Given the description of an element on the screen output the (x, y) to click on. 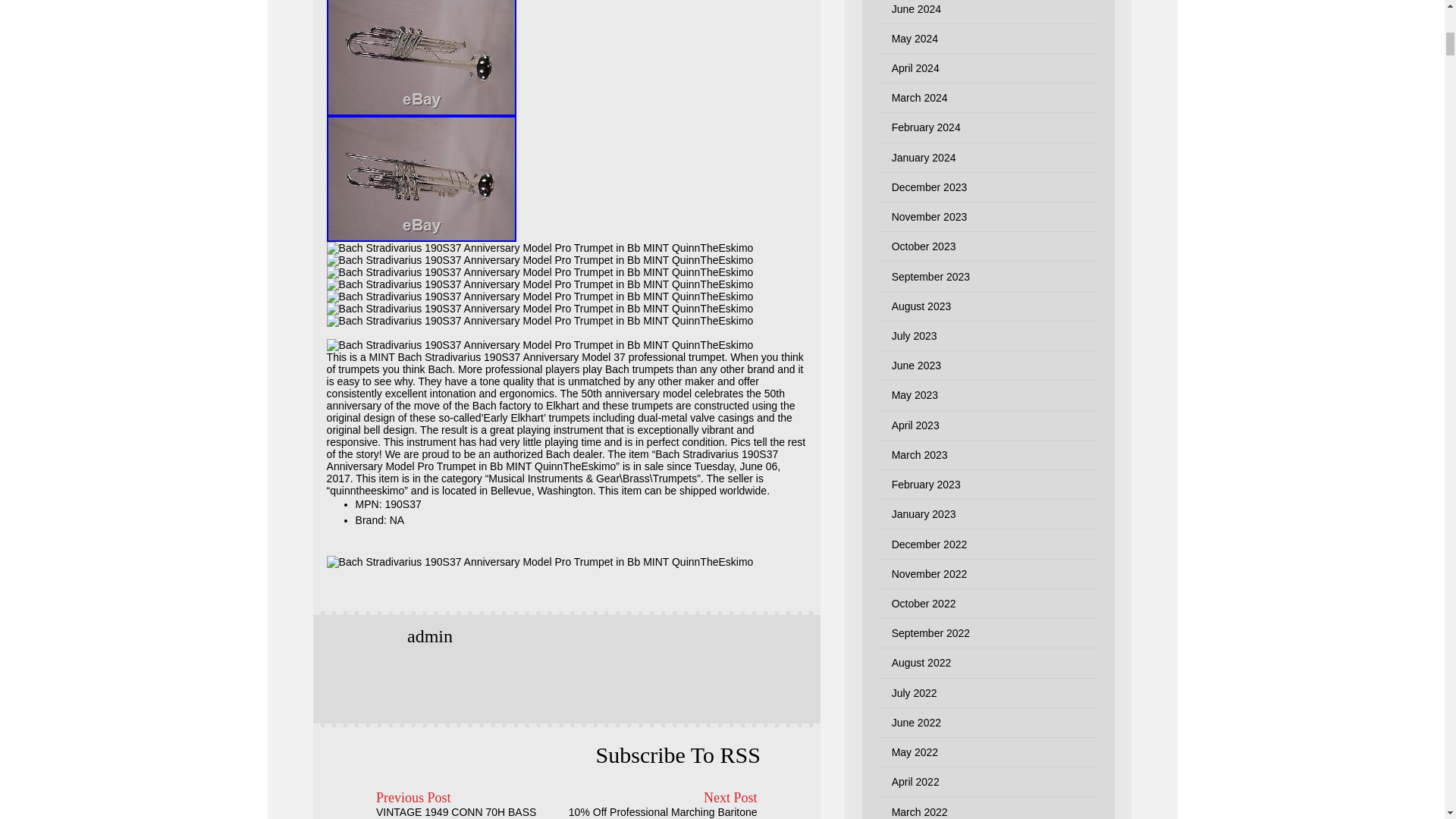
June 2024 (915, 9)
December 2023 (929, 186)
May 2024 (914, 38)
September 2023 (931, 276)
April 2024 (915, 68)
November 2023 (929, 216)
